Given the description of an element on the screen output the (x, y) to click on. 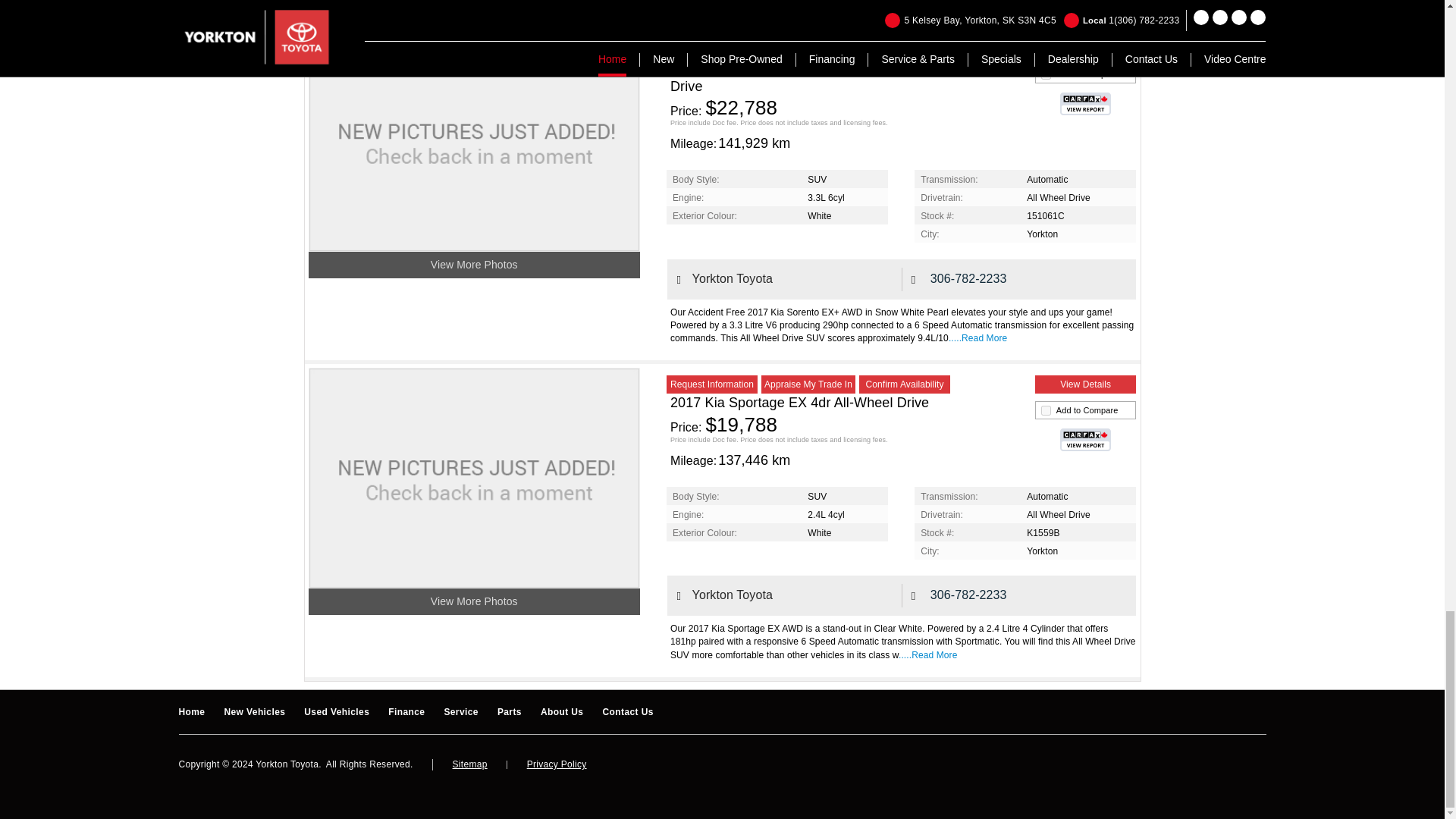
unchecked (1046, 74)
unchecked (1046, 410)
